Given the description of an element on the screen output the (x, y) to click on. 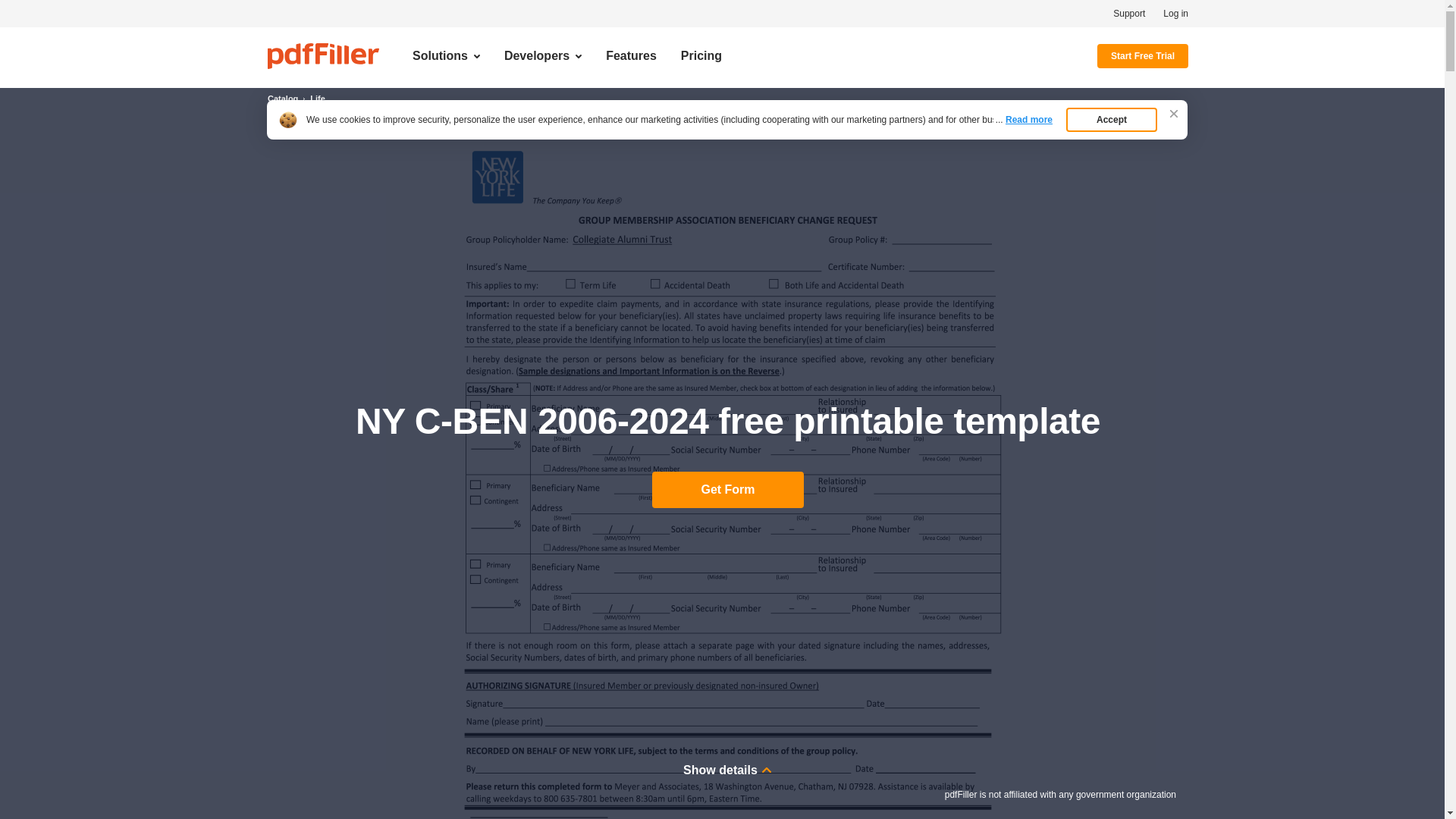
Log in (1175, 13)
pdfFiller (322, 55)
Support (1128, 13)
Log in (1175, 13)
Pricing (700, 56)
Features (631, 56)
Support (1128, 13)
